Given the description of an element on the screen output the (x, y) to click on. 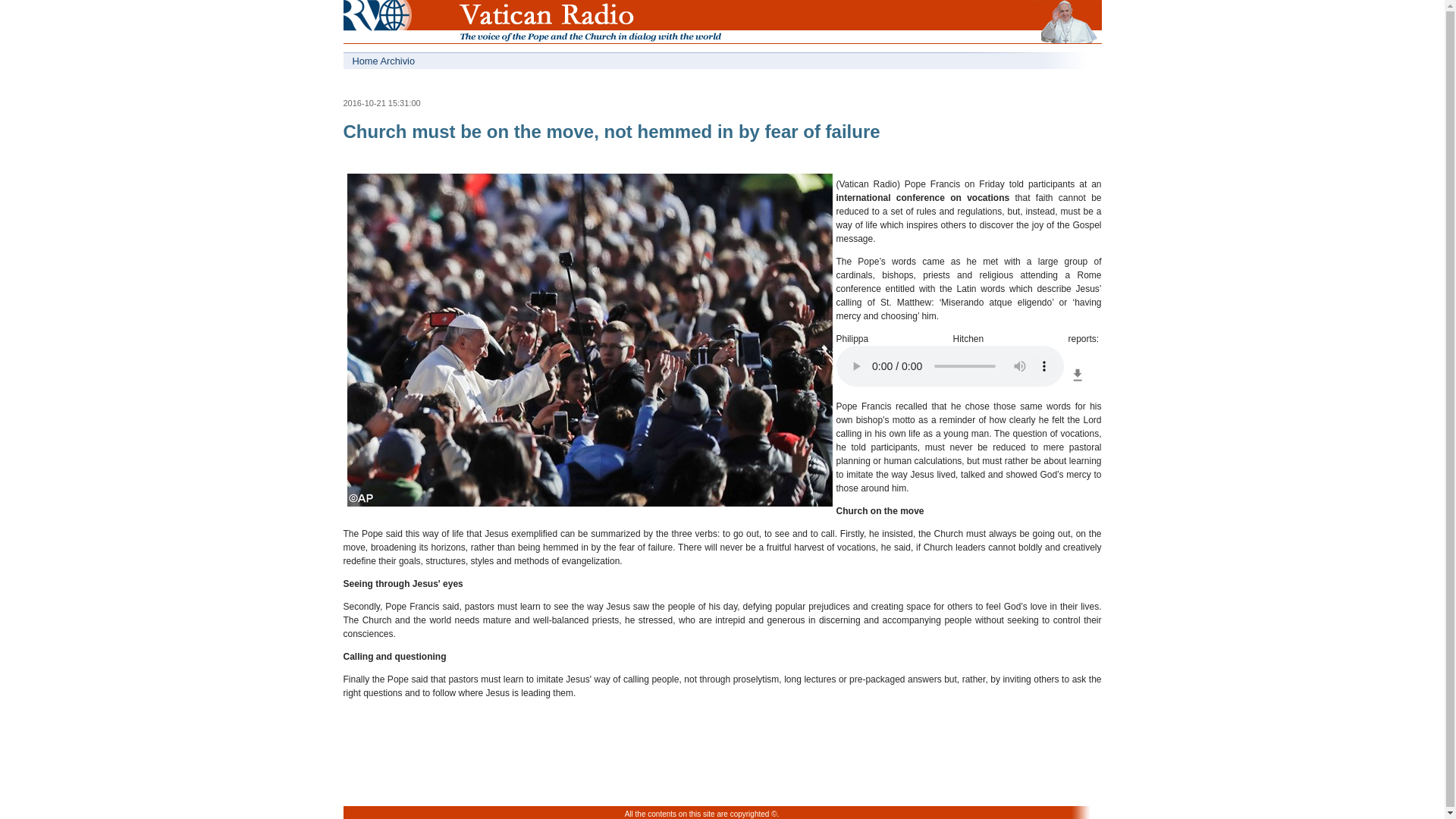
Download audio (1077, 383)
Home Archivio (532, 60)
Home (370, 24)
